Given the description of an element on the screen output the (x, y) to click on. 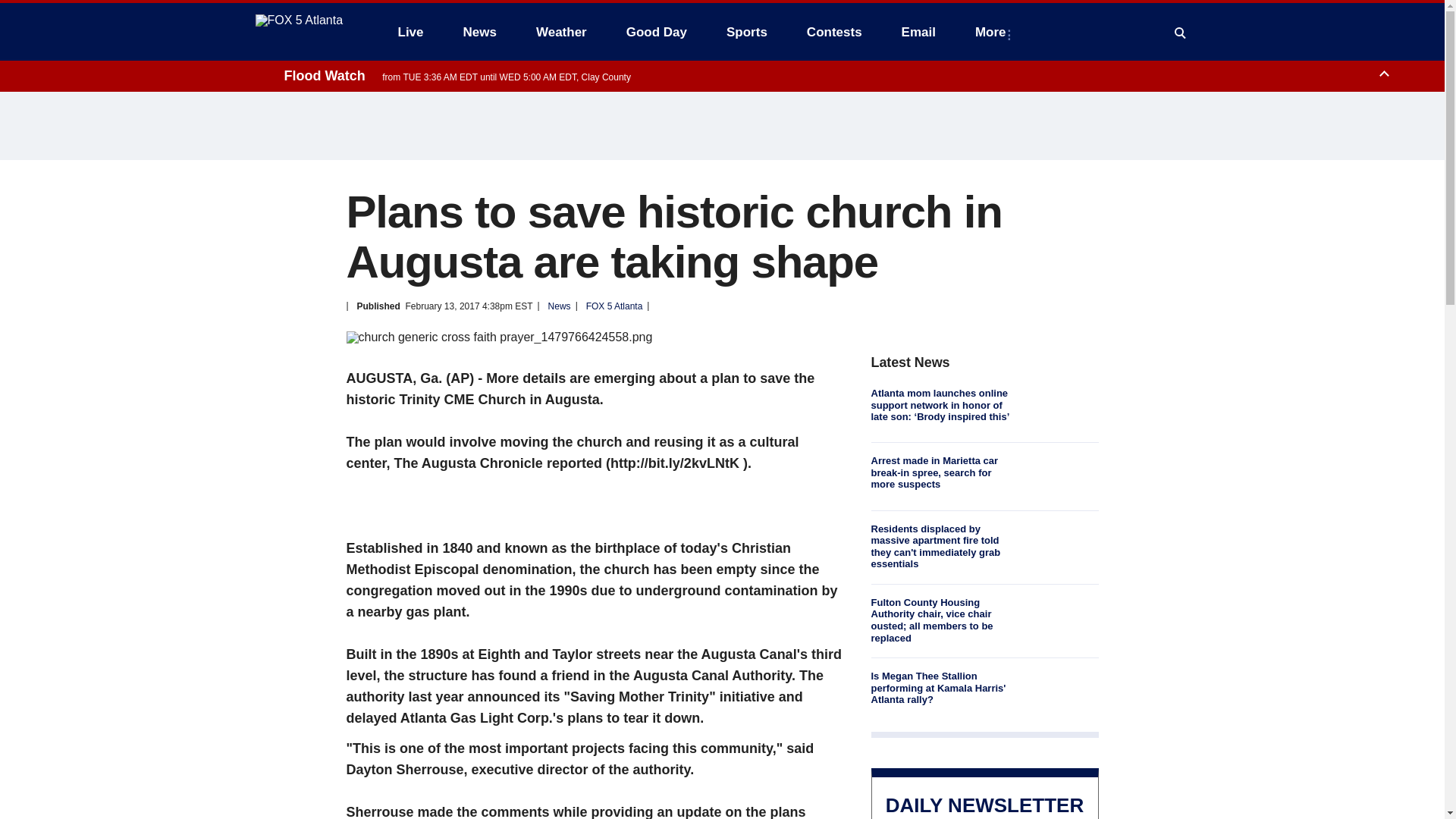
Contests (834, 32)
Sports (746, 32)
News (479, 32)
Weather (561, 32)
Live (410, 32)
More (993, 32)
Good Day (656, 32)
Email (918, 32)
